Given the description of an element on the screen output the (x, y) to click on. 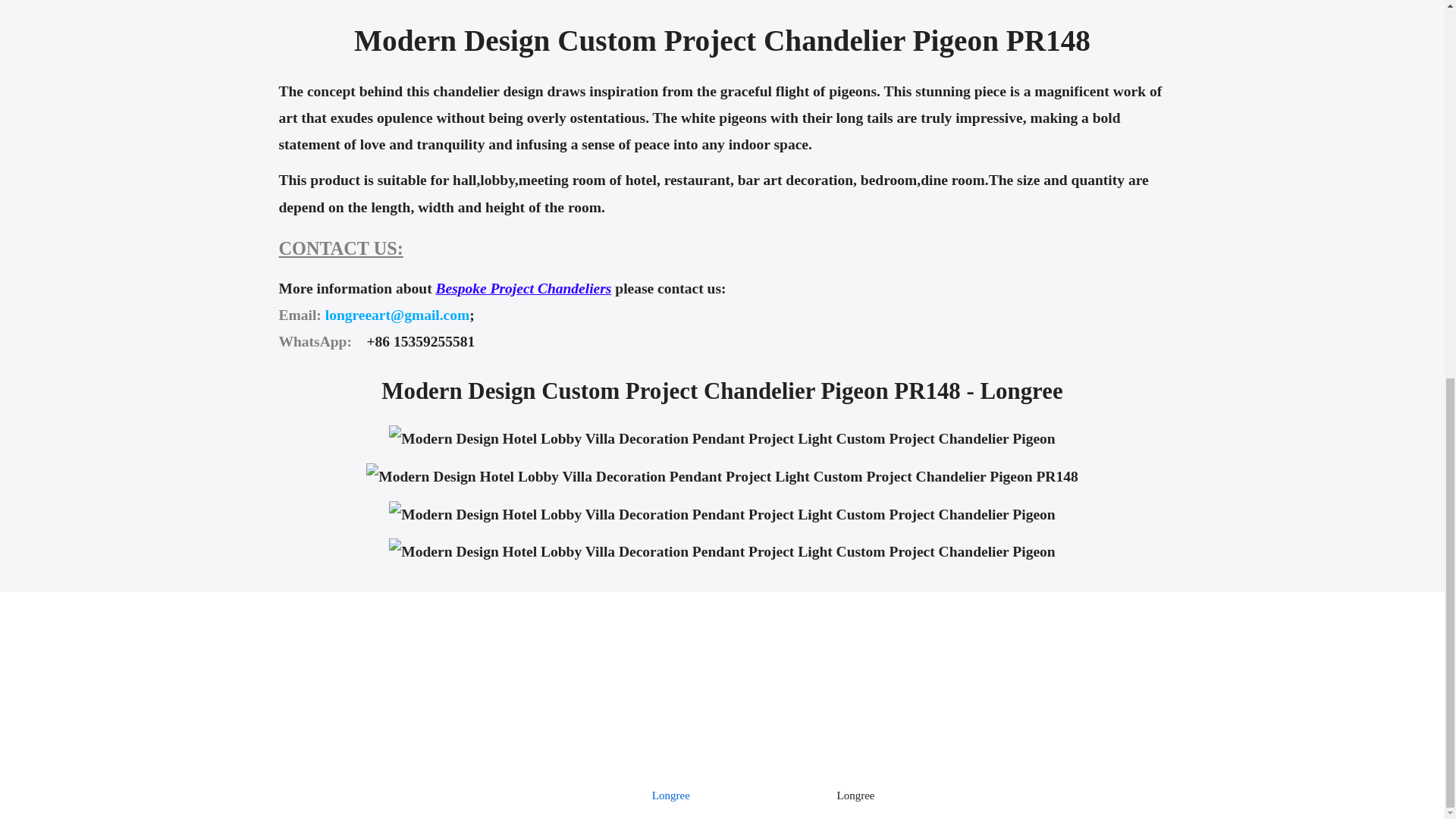
Customised Cascading Project Chandelier - Longree (523, 288)
Bespoke Project Chandeliers (523, 288)
Longree (856, 93)
